Given the description of an element on the screen output the (x, y) to click on. 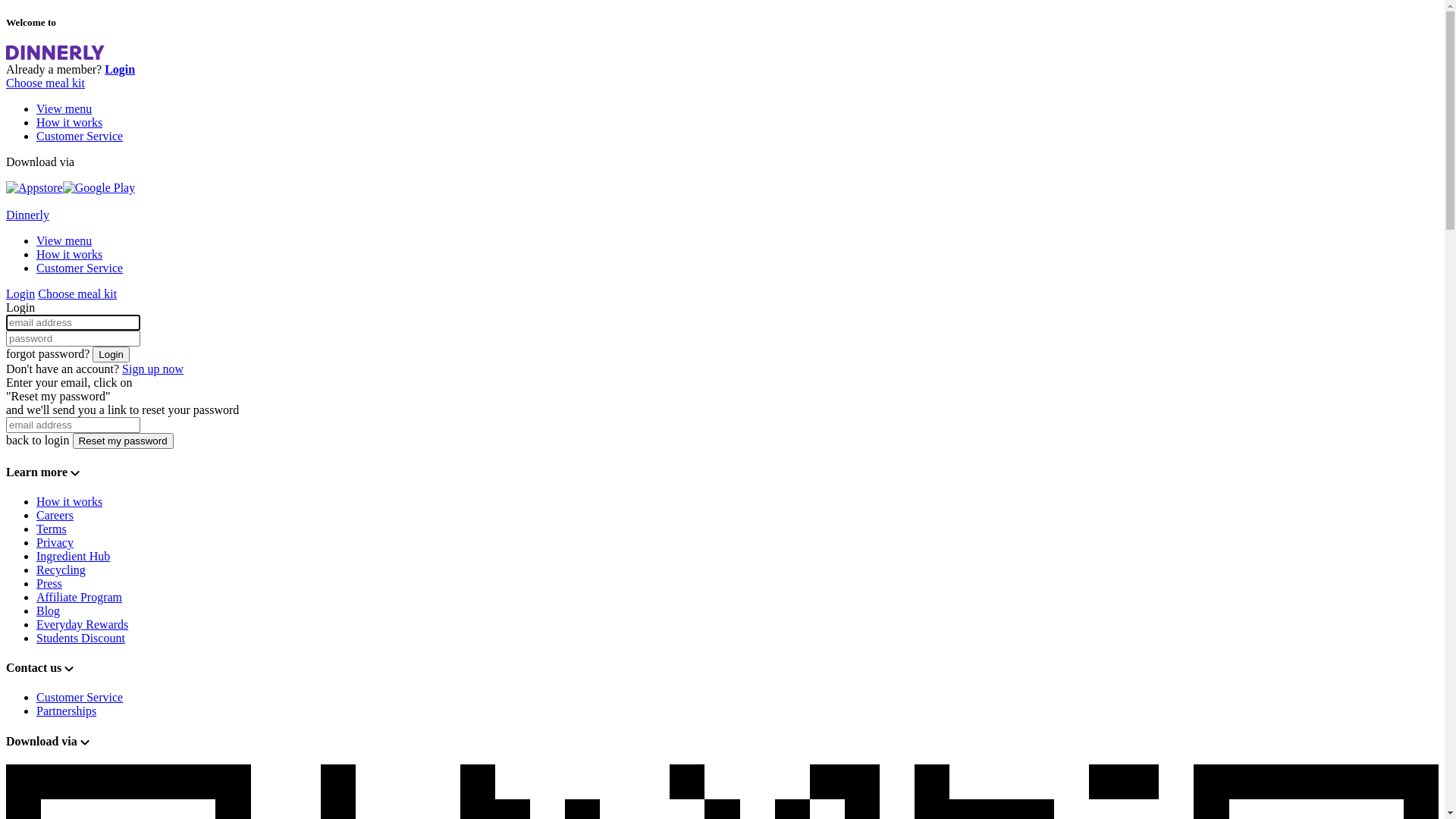
Dinnerly Element type: text (27, 214)
Customer Service Element type: text (79, 267)
Students Discount Element type: text (80, 637)
How it works Element type: text (69, 253)
Terms Element type: text (51, 528)
Recycling Element type: text (60, 569)
Partnerships Element type: text (66, 710)
back to login Element type: text (37, 439)
Customer Service Element type: text (79, 135)
Careers Element type: text (54, 514)
Reset my password Element type: text (122, 440)
View menu Element type: text (63, 240)
Everyday Rewards Element type: text (82, 624)
Login Element type: text (20, 293)
Press Element type: text (49, 583)
Blog Element type: text (47, 610)
Login Element type: text (110, 354)
View menu Element type: text (63, 108)
How it works Element type: text (69, 122)
Customer Service Element type: text (79, 696)
Login Element type: text (119, 68)
Choose meal kit Element type: text (76, 293)
How it works Element type: text (69, 501)
Privacy Element type: text (54, 542)
forgot password? Element type: text (47, 353)
Ingredient Hub Element type: text (72, 555)
Affiliate Program Element type: text (79, 596)
Sign up now Element type: text (152, 368)
Choose meal kit Element type: text (45, 82)
